Given the description of an element on the screen output the (x, y) to click on. 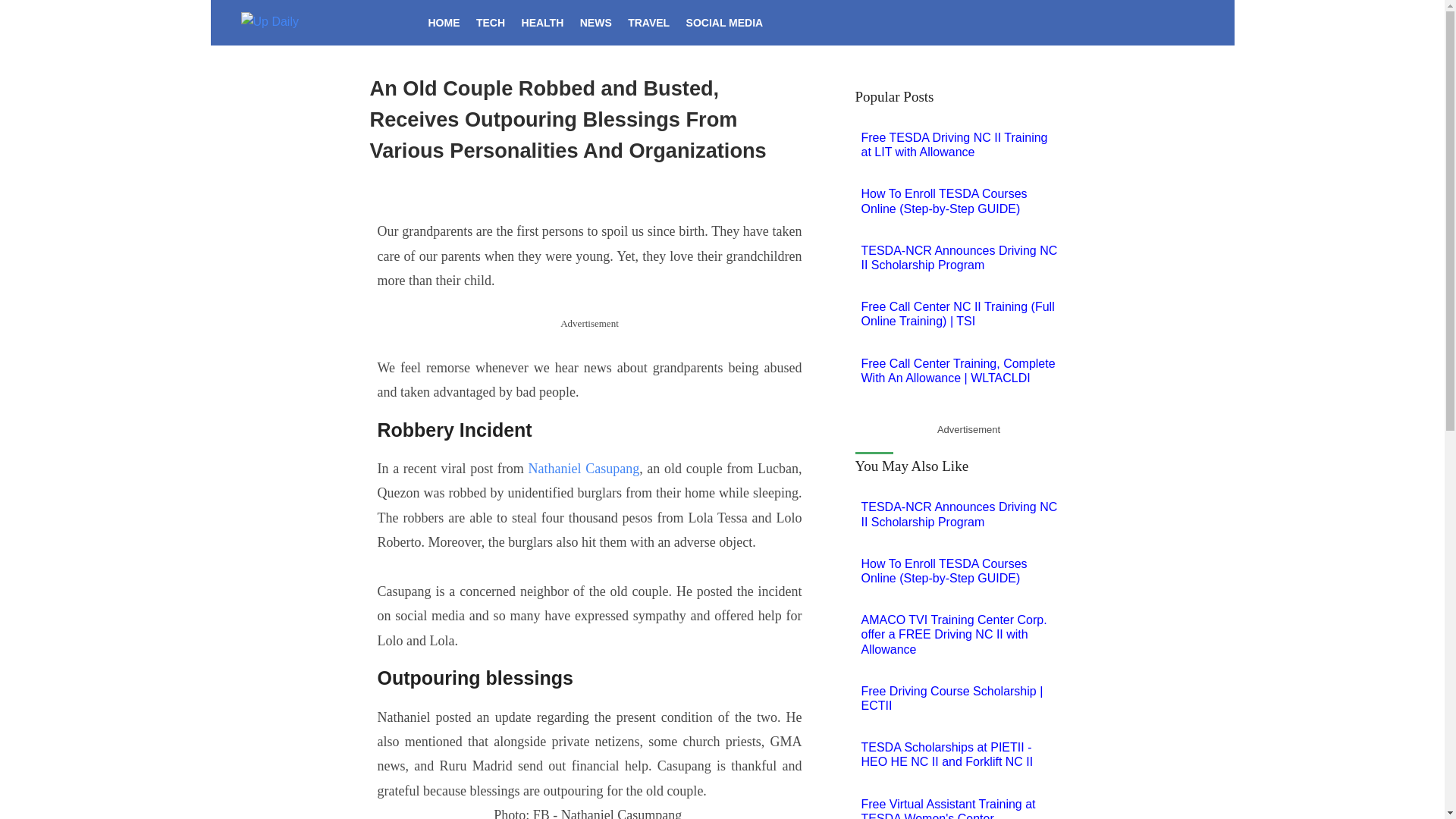
Nathaniel Casupang (584, 468)
TESDA-NCR Announces Driving NC II Scholarship Program (964, 513)
HEALTH (542, 22)
TESDA-NCR Announces Driving NC II Scholarship Program (964, 257)
Free TESDA Driving NC II Training at LIT with Allowance (964, 144)
SOCIAL MEDIA (723, 22)
TRAVEL (648, 22)
